Given the description of an element on the screen output the (x, y) to click on. 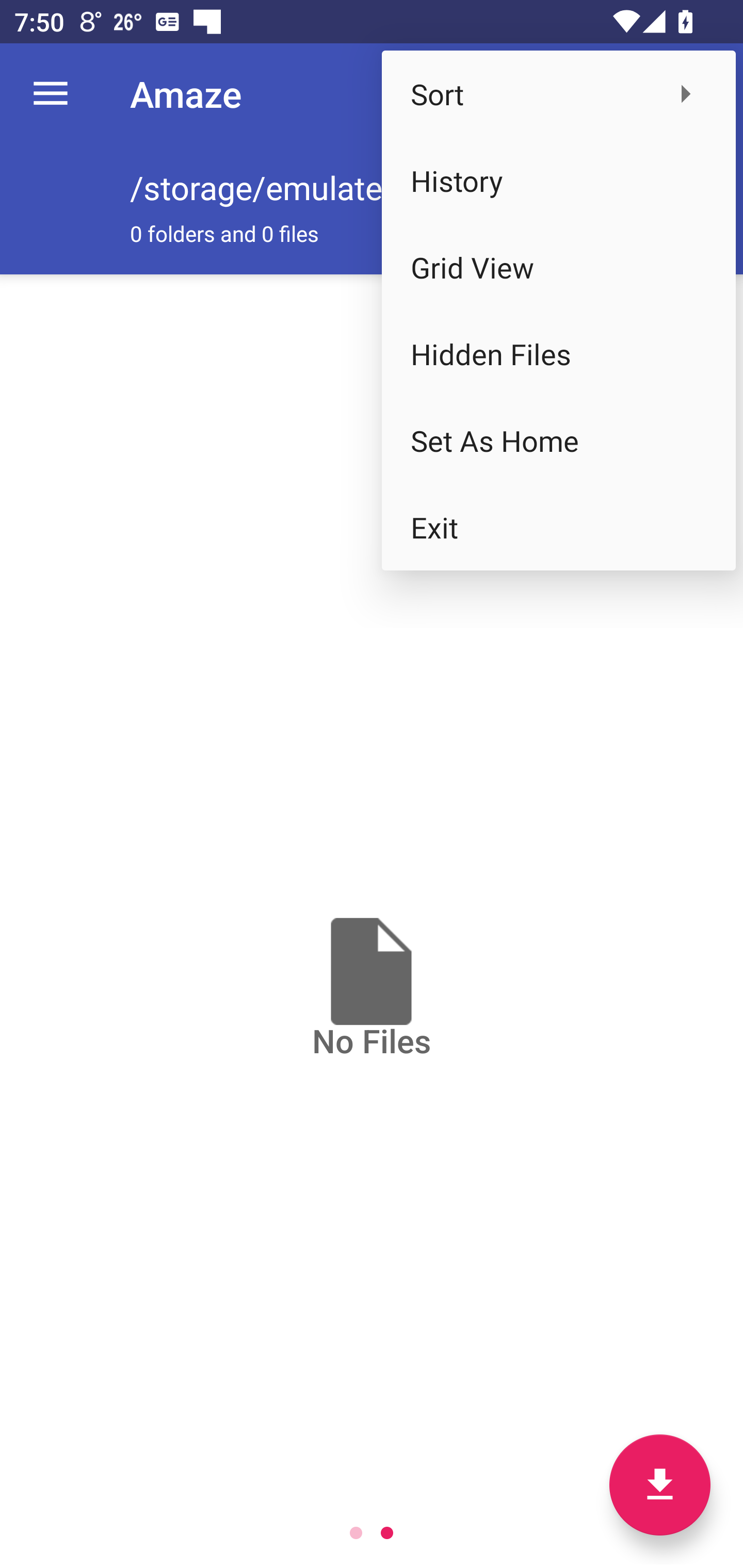
Sort (558, 93)
History (558, 180)
Grid View (558, 267)
Hidden Files (558, 353)
Set As Home (558, 440)
Exit (558, 527)
